Given the description of an element on the screen output the (x, y) to click on. 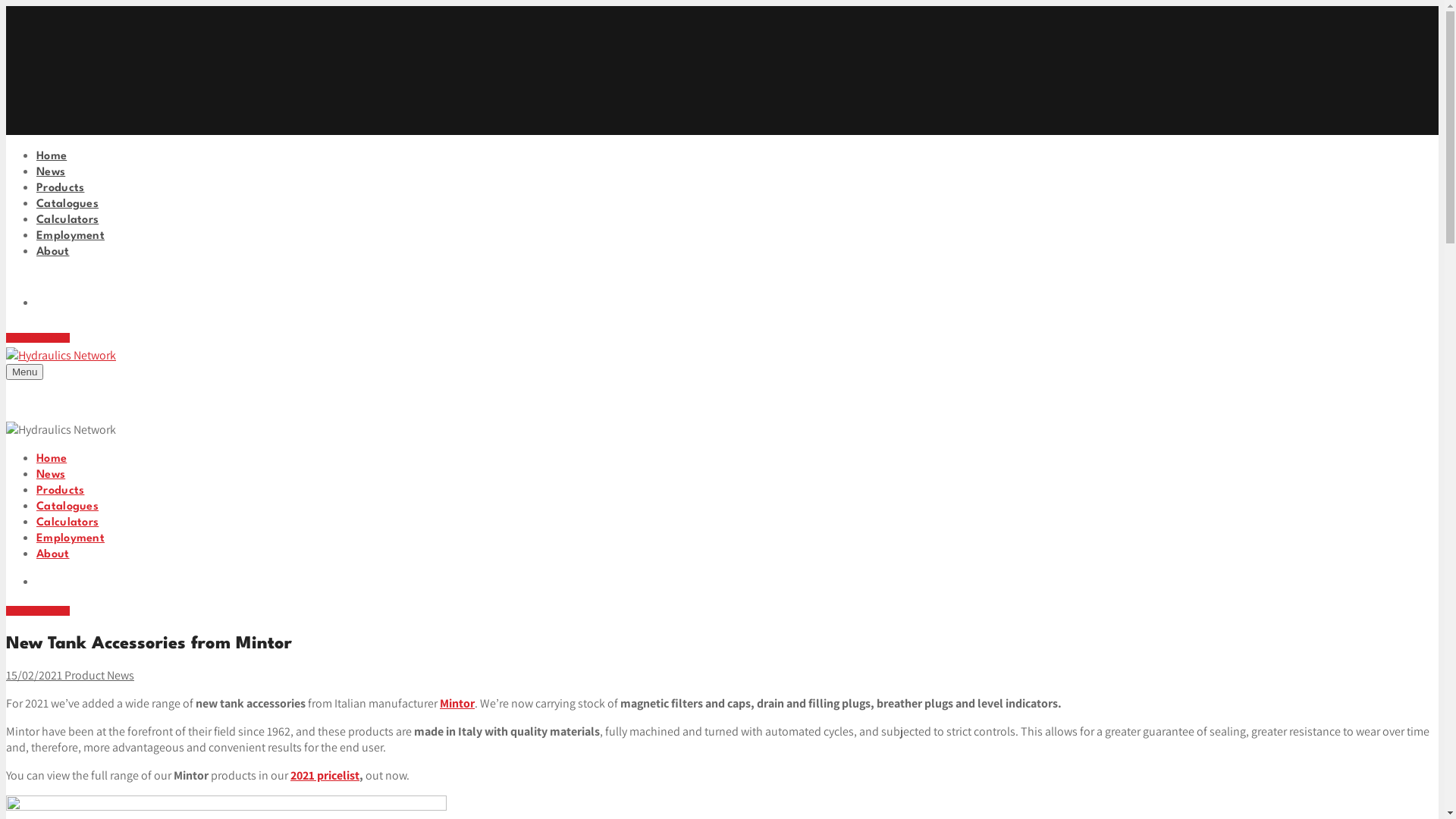
Skip to content Element type: text (5, 5)
About Element type: text (52, 554)
Home Element type: text (51, 156)
Employment Element type: text (70, 538)
About Element type: text (52, 251)
Calculators Element type: text (67, 522)
Products Element type: text (60, 188)
CONTACT US Element type: text (37, 610)
Menu Element type: text (24, 371)
15/02/2021 Element type: text (34, 675)
Products Element type: text (60, 490)
Catalogues Element type: text (67, 506)
News Element type: text (50, 172)
CONTACT US Element type: text (37, 337)
Mintor Element type: text (456, 703)
2021 pricelist Element type: text (324, 775)
Calculators Element type: text (67, 219)
Employment Element type: text (70, 235)
Product News Element type: text (98, 675)
Catalogues Element type: text (67, 204)
Home Element type: text (51, 458)
News Element type: text (50, 474)
